Given the description of an element on the screen output the (x, y) to click on. 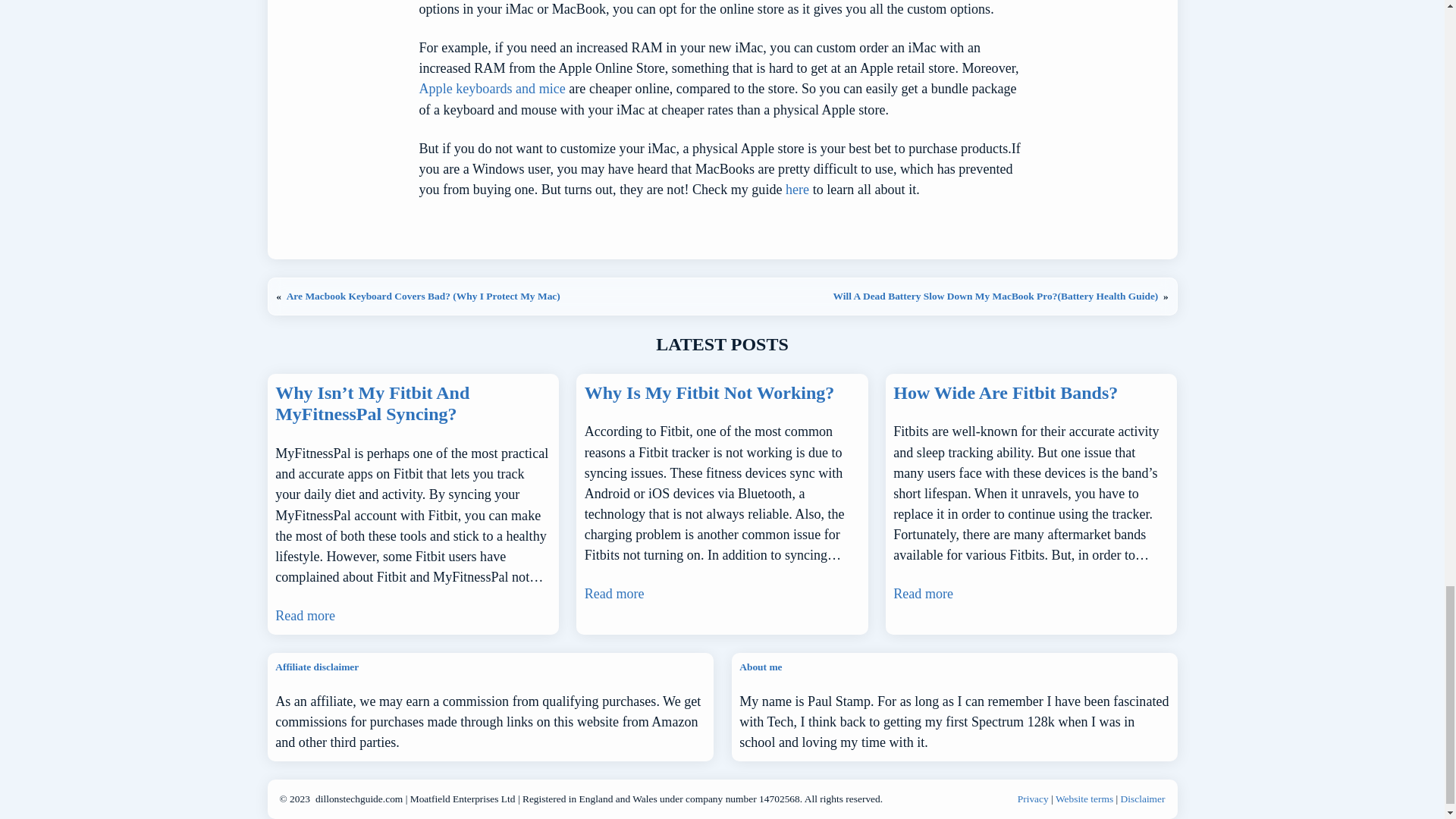
Apple keyboards and mice (494, 88)
Read more (304, 616)
Why Is My Fitbit Not Working? (709, 393)
Read more (615, 593)
here (797, 189)
